Given the description of an element on the screen output the (x, y) to click on. 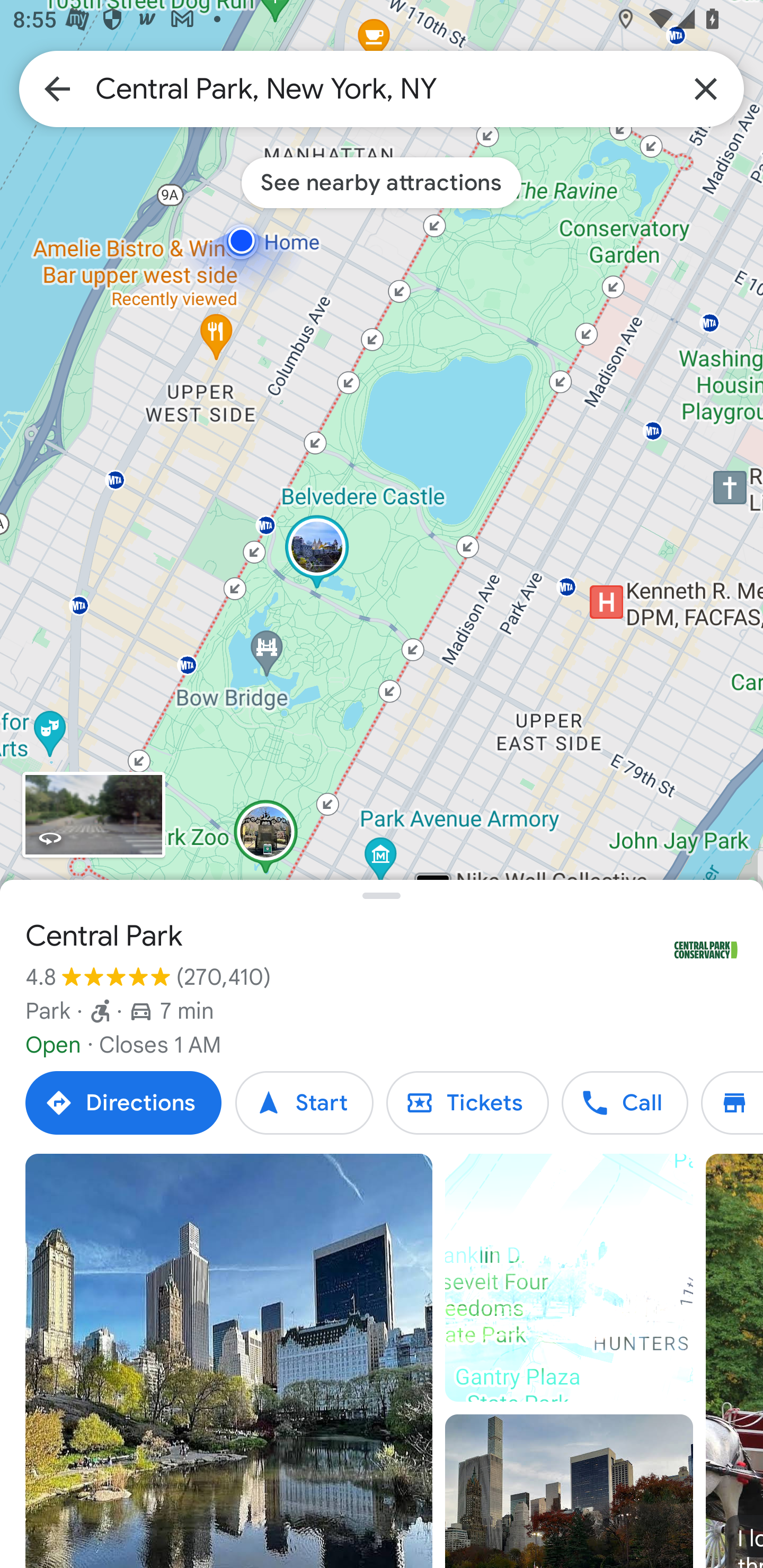
Back (57, 88)
Central Park, New York, NY (381, 88)
Clear (705, 88)
See nearby attractions (381, 182)
View Street view imagery for Central Park (93, 814)
Start Start Start (304, 1102)
Tickets (467, 1102)
Call Central Park Call Call Central Park (624, 1102)
Directory Directory Directory (732, 1102)
Photo (228, 1361)
Video (568, 1277)
Photo (568, 1491)
